Given the description of an element on the screen output the (x, y) to click on. 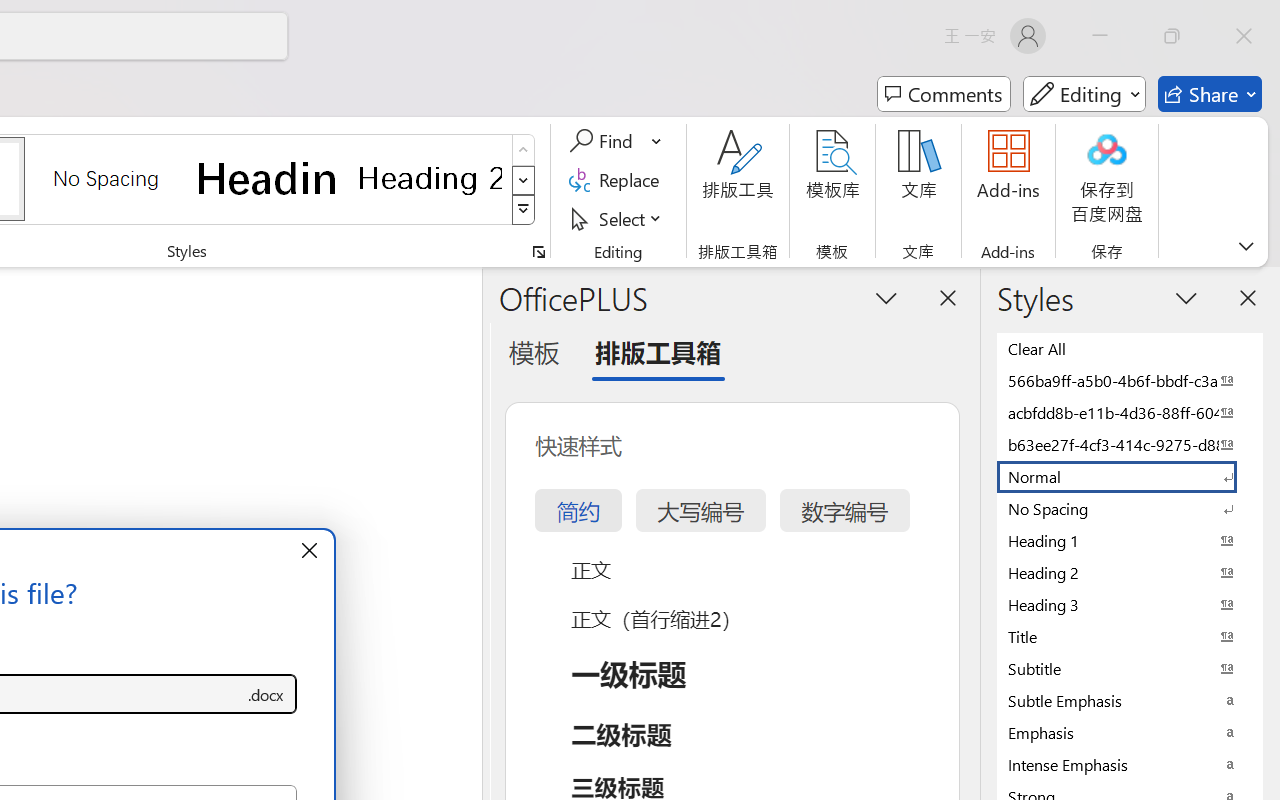
Clear All (1130, 348)
Heading 1 (267, 178)
Title (1130, 636)
Emphasis (1130, 732)
Subtle Emphasis (1130, 700)
Ribbon Display Options (1246, 245)
Mode (1083, 94)
